Given the description of an element on the screen output the (x, y) to click on. 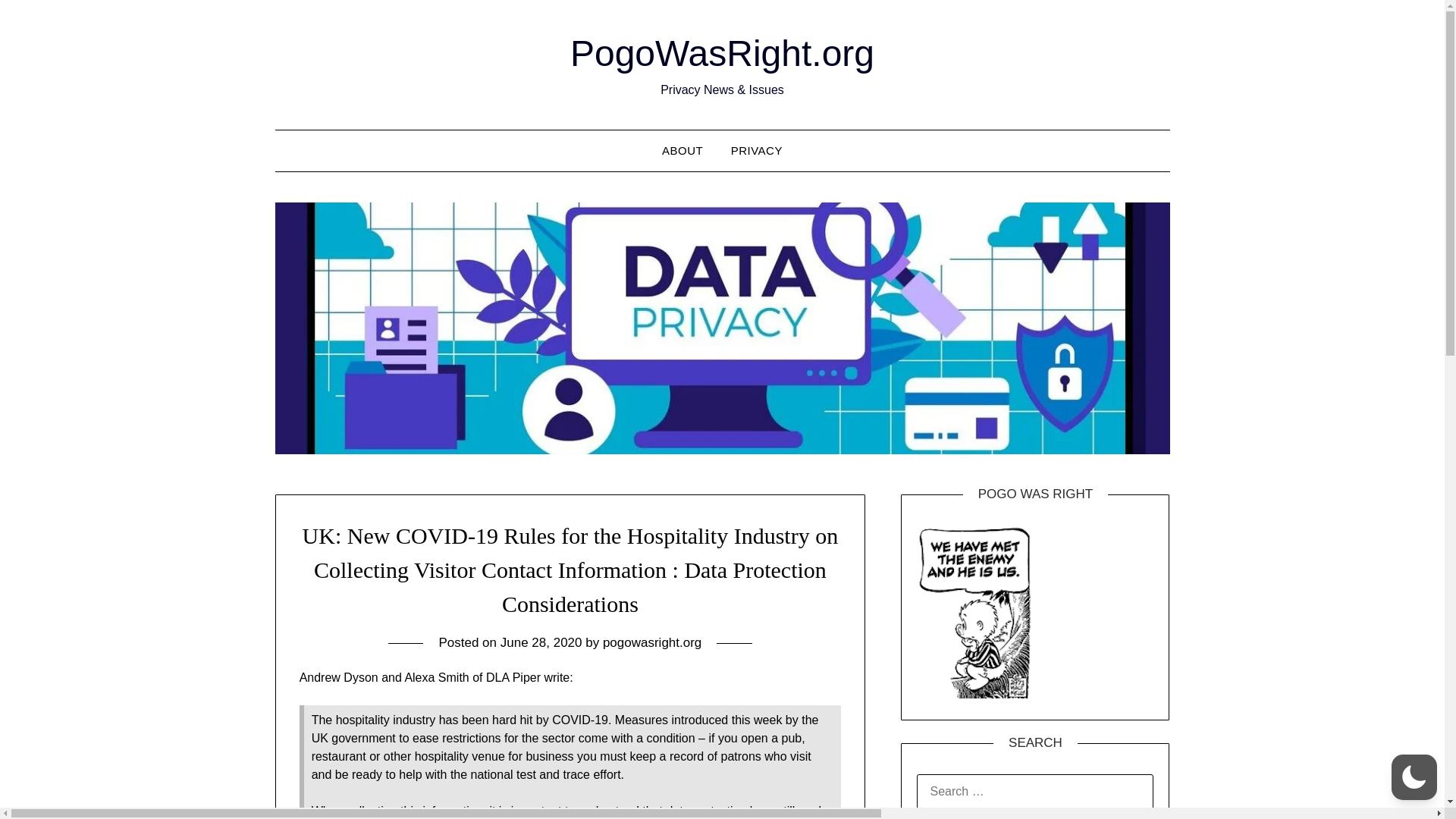
pogowasright.org (651, 642)
June 28, 2020 (541, 642)
PogoWasRight.org (722, 53)
ABOUT (681, 150)
Search (38, 22)
PRIVACY (756, 150)
